Given the description of an element on the screen output the (x, y) to click on. 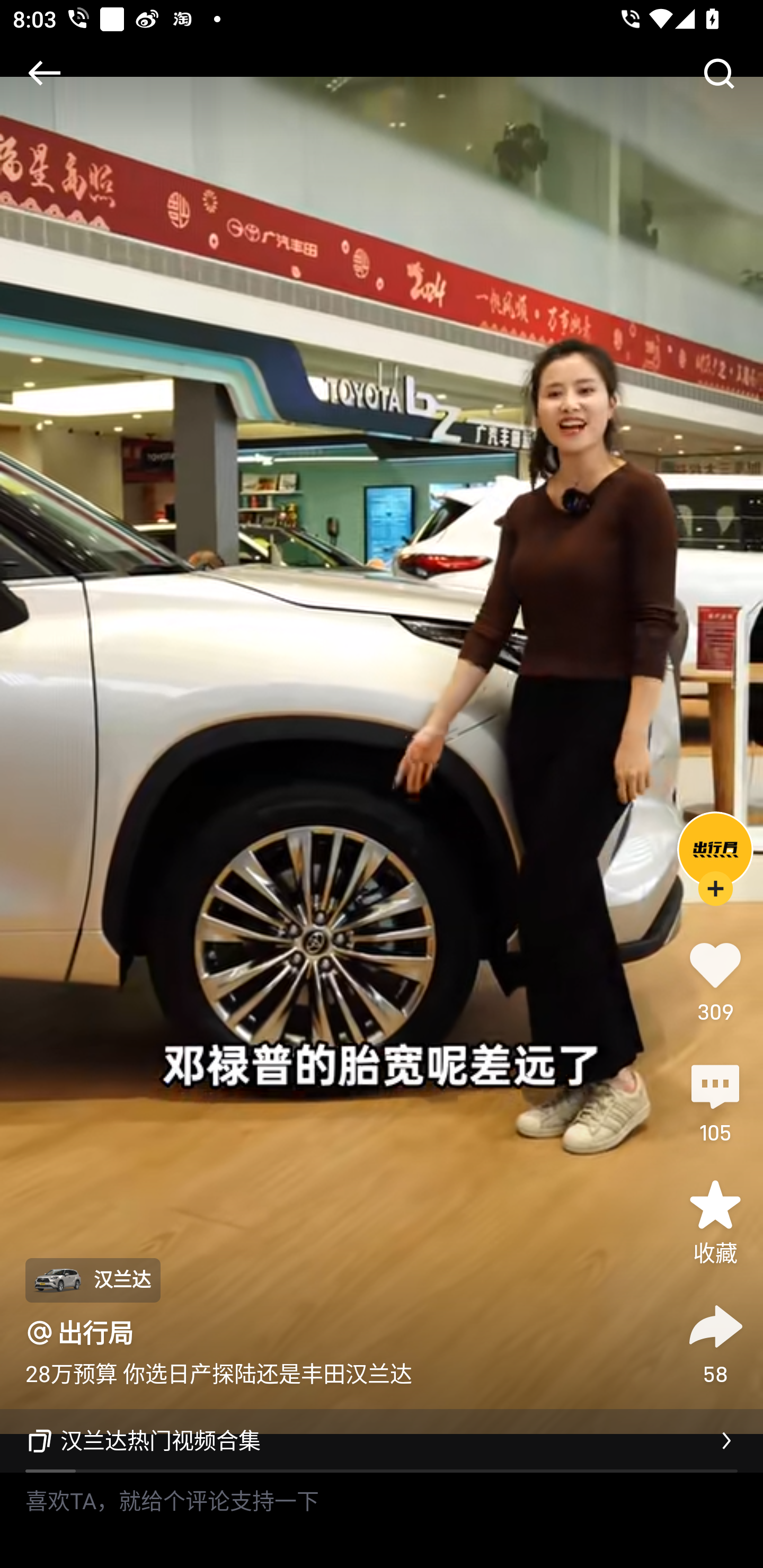
 (44, 72)
 (718, 72)
105 (715, 1100)
收藏 (715, 1221)
汉兰达 (92, 1280)
58 (715, 1342)
出行局 (95, 1332)
28万预算 你选日产探陆还是丰田汉兰达 (218, 1373)
汉兰达热门视频合集 (381, 1440)
喜欢TA，就给个评论支持一下 (381, 1520)
